Given the description of an element on the screen output the (x, y) to click on. 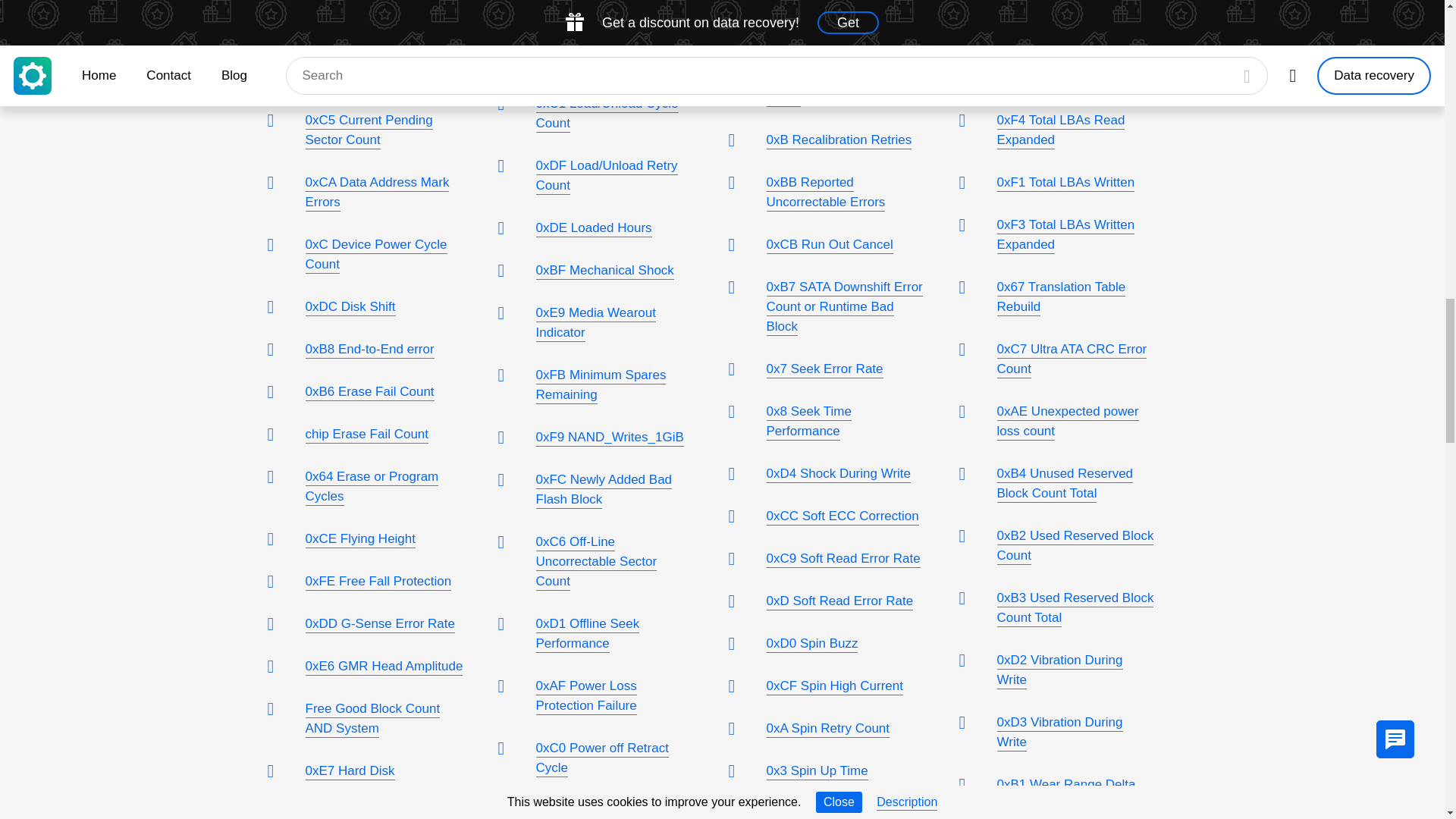
0x64 Erase or Program Cycles (371, 487)
0xDC Disk Shift (349, 307)
0xB6 Erase Fail Count (368, 392)
Free Good Block Count AND System (371, 719)
0xE7 Hard Disk Temperature (349, 781)
0xC5 Current Pending Sector Count (368, 131)
0xEA Average erase count AND Maximum Erase Count (380, 1)
0xC Device Power Cycle Count (375, 255)
0xE6 GMR Head Amplitude (383, 667)
0x16 Current Helium Level (380, 78)
0xB8 End-to-End error (368, 350)
0xCA Data Address Mark Errors (376, 193)
0xFE Free Fall Protection (377, 582)
0xCE Flying Height (359, 539)
chip Erase Fail Count (366, 434)
